Given the description of an element on the screen output the (x, y) to click on. 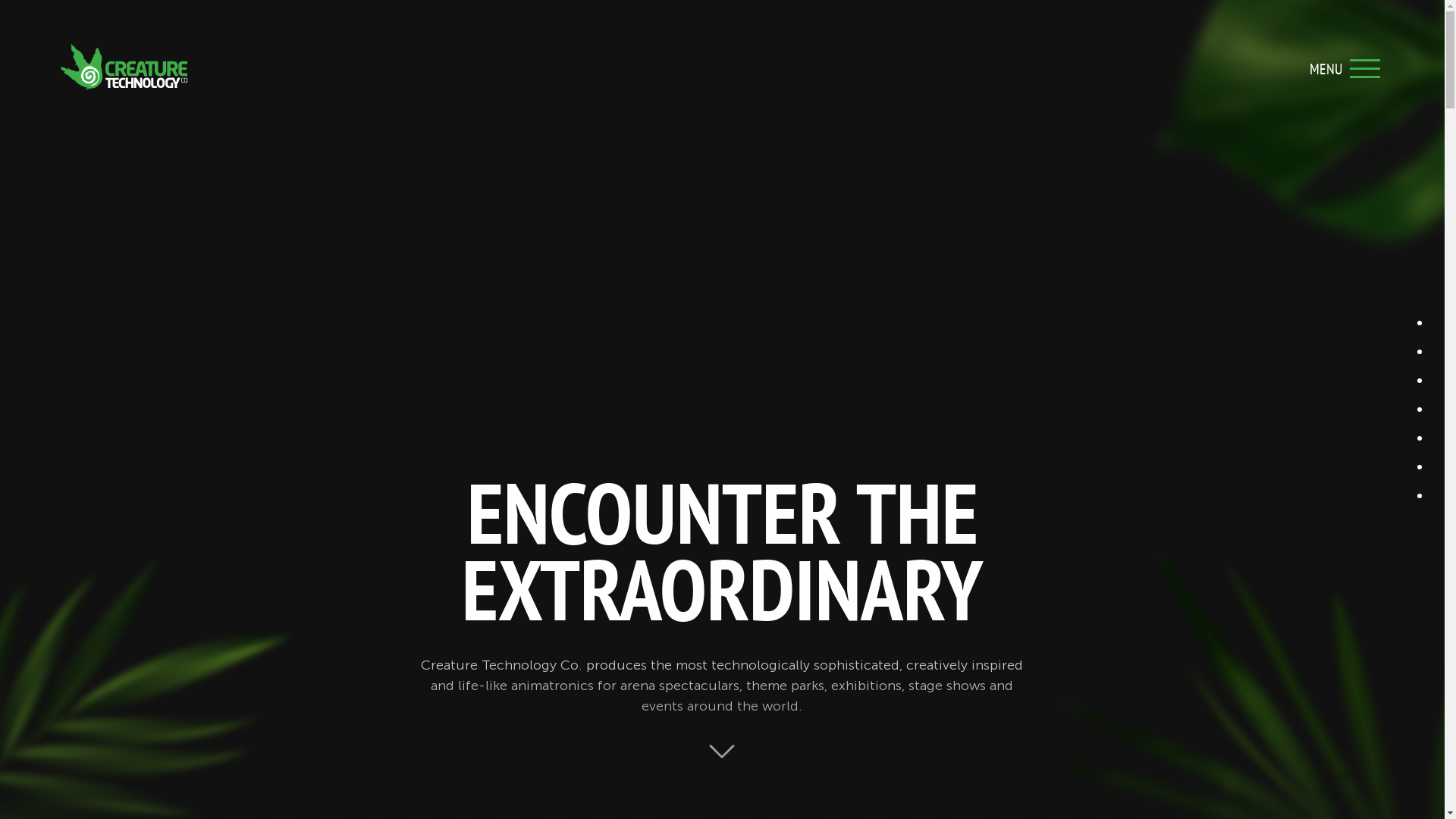
MENU Element type: text (1364, 68)
